Given the description of an element on the screen output the (x, y) to click on. 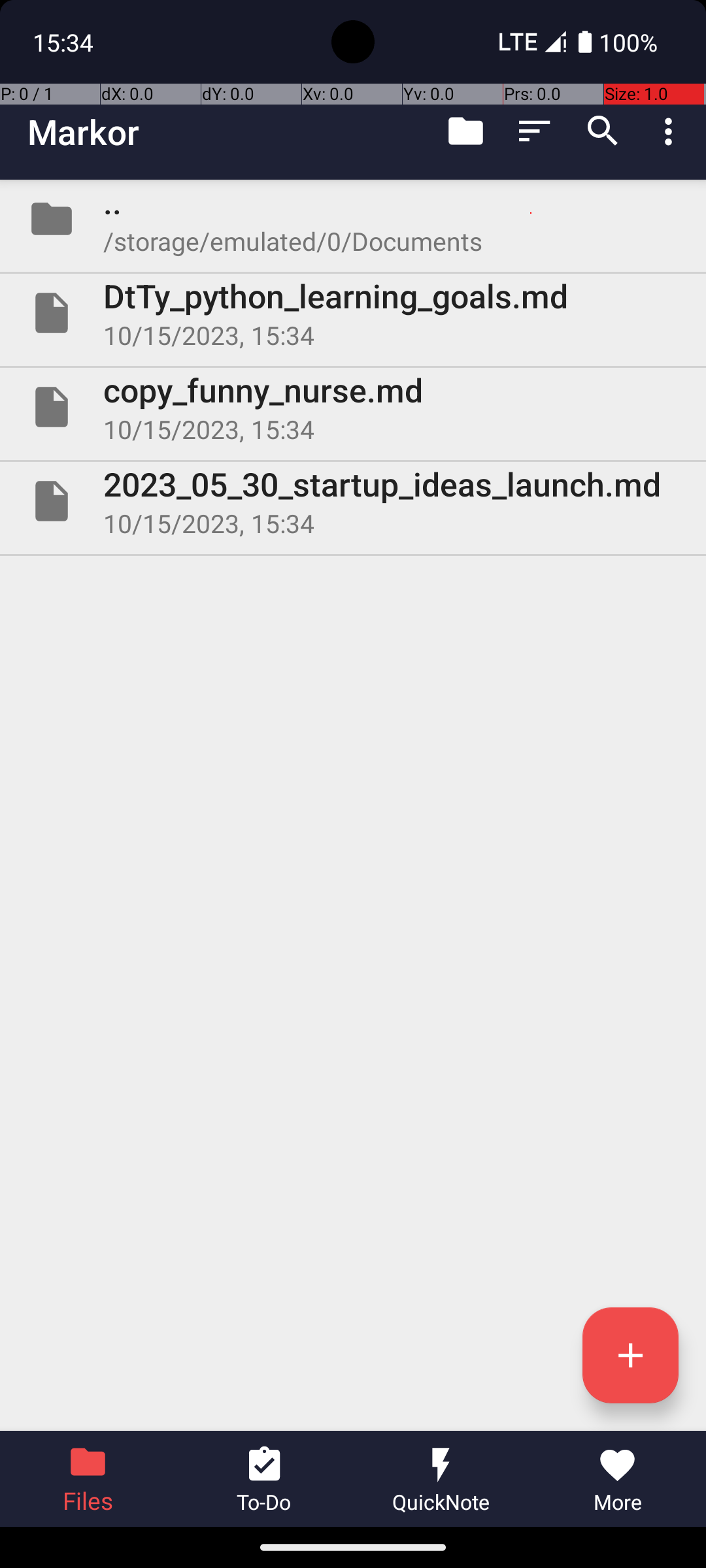
File DtTy_python_learning_goals.md 10/15/2023, 15:34 Element type: android.widget.LinearLayout (353, 312)
File copy_funny_nurse.md 10/15/2023, 15:34 Element type: android.widget.LinearLayout (353, 406)
File 2023_05_30_startup_ideas_launch.md 10/15/2023, 15:34 Element type: android.widget.LinearLayout (353, 500)
